Given the description of an element on the screen output the (x, y) to click on. 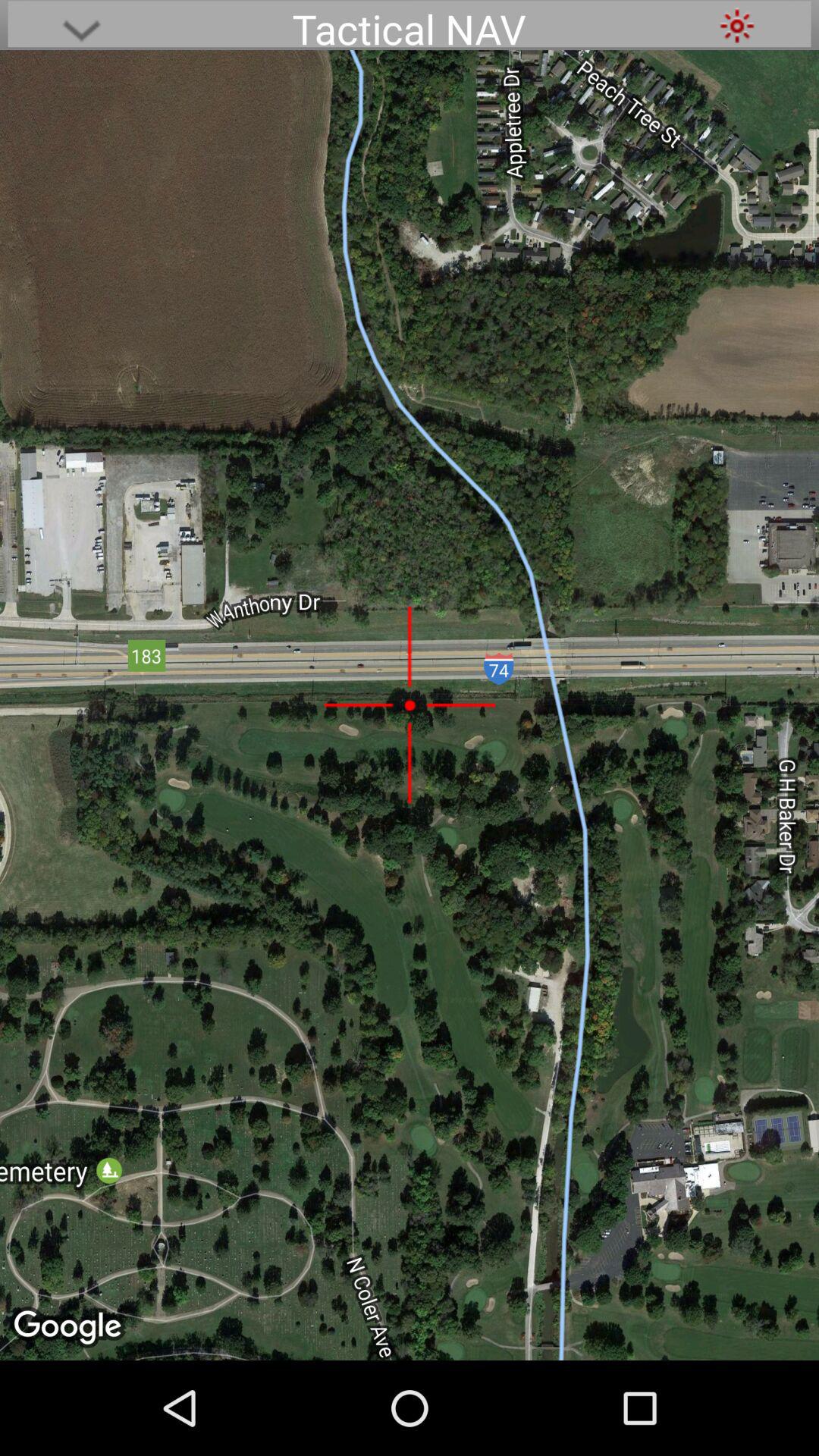
select the item to the left of the tactical nav app (81, 25)
